Given the description of an element on the screen output the (x, y) to click on. 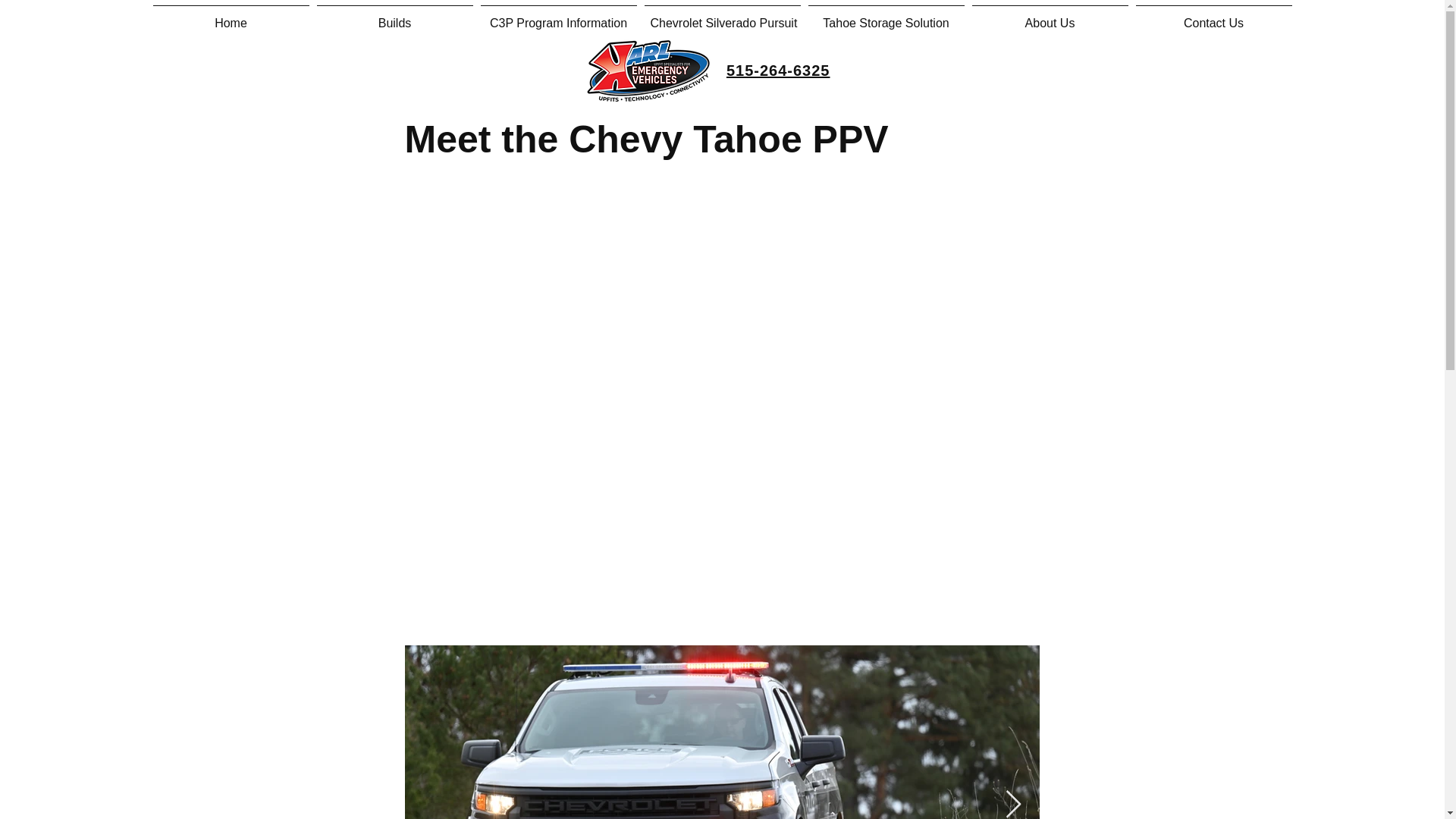
Tahoe Storage Solution (885, 15)
Chevrolet Silverado Pursuit (721, 15)
Builds (394, 15)
About Us (1049, 15)
515-264-6325 (777, 70)
Home (230, 15)
Contact Us (1213, 15)
C3P Program Information (558, 15)
